Given the description of an element on the screen output the (x, y) to click on. 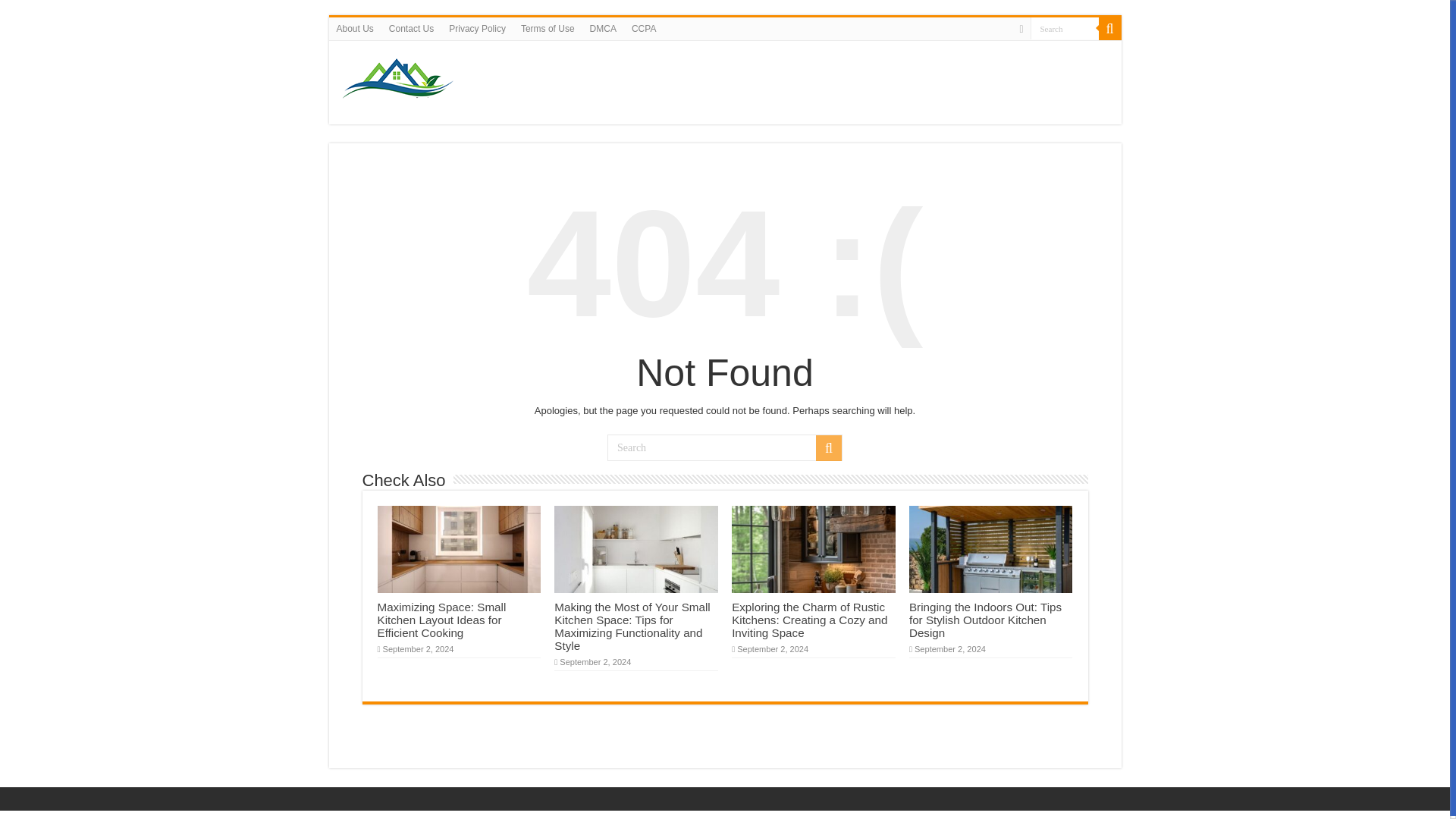
Search (1063, 28)
Search (1109, 28)
Privacy Policy (477, 28)
Decorationg (400, 79)
Terms of Use (547, 28)
Search (828, 447)
About Us (355, 28)
Search (725, 447)
Search (1063, 28)
DMCA (603, 28)
